Given the description of an element on the screen output the (x, y) to click on. 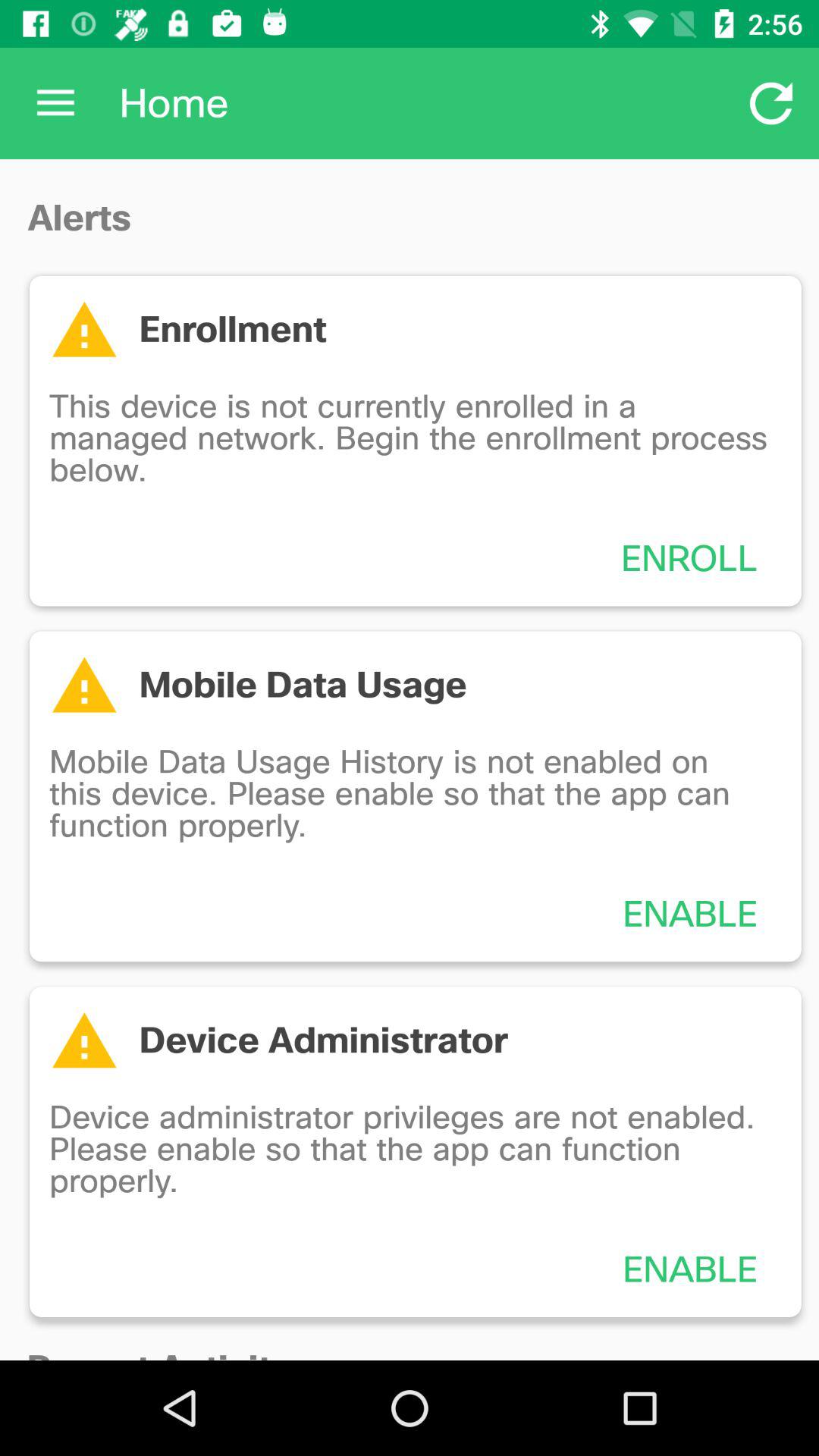
select item to the right of the home item (771, 103)
